Given the description of an element on the screen output the (x, y) to click on. 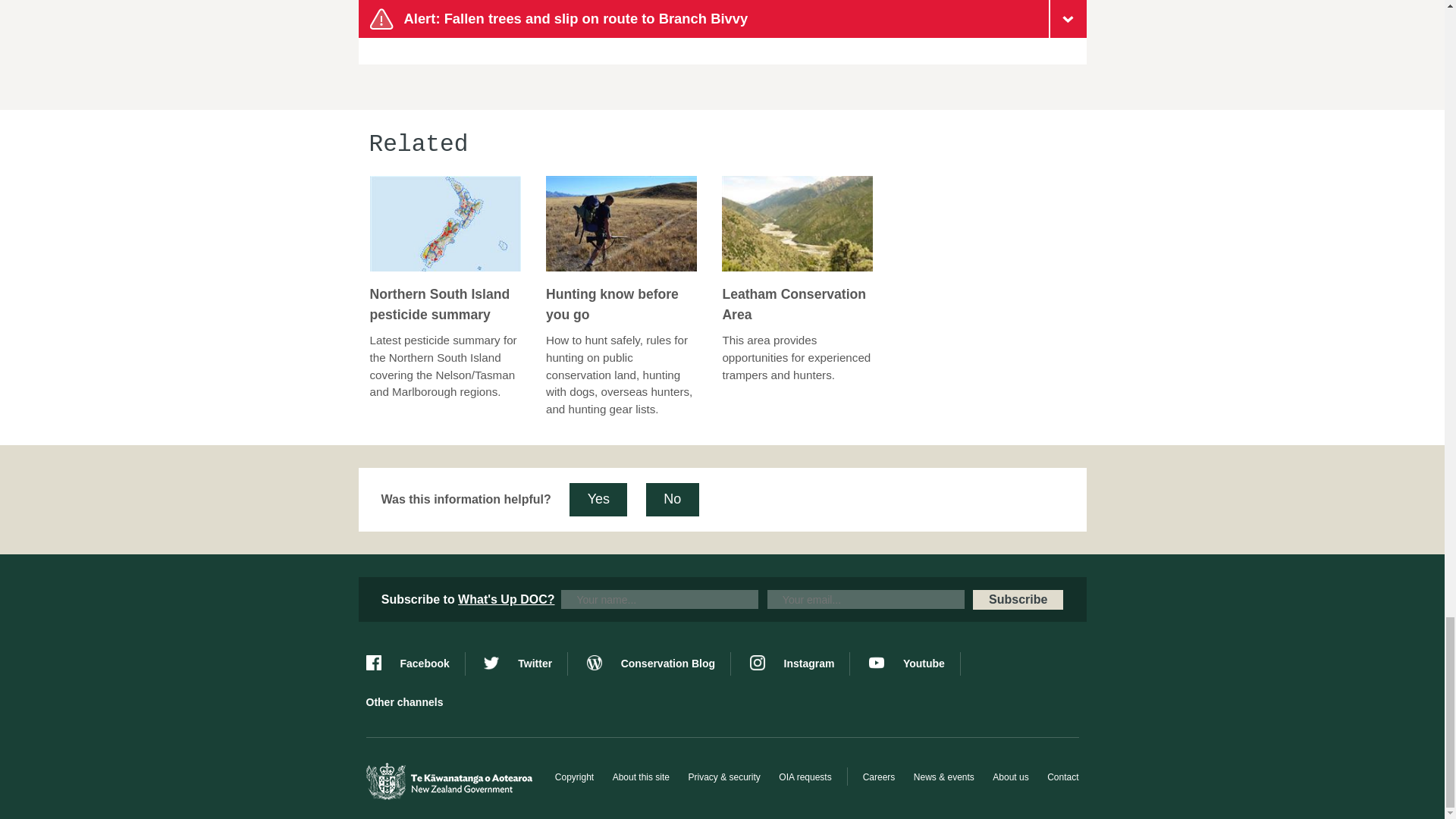
twitter (525, 663)
youtube (914, 663)
facebook (414, 663)
Subscribe (1017, 599)
blog (658, 663)
instagram (799, 663)
